Given the description of an element on the screen output the (x, y) to click on. 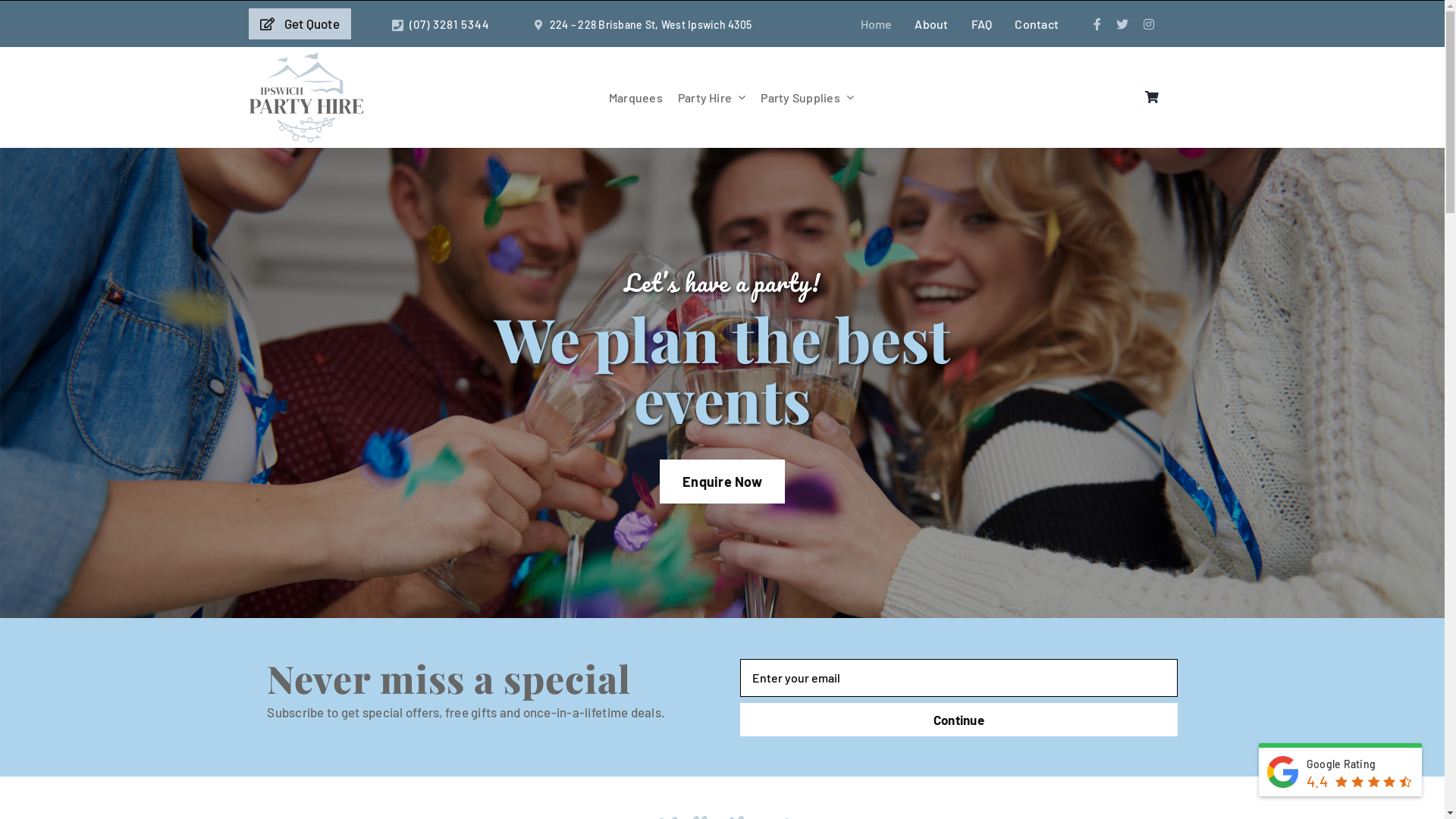
(07) 3281 5344 Element type: text (449, 24)
FAQ Element type: text (981, 24)
Party Hire Element type: text (711, 96)
Contact Element type: text (1036, 24)
About Element type: text (930, 24)
Home Element type: text (876, 24)
Send Enquiry Element type: text (721, 688)
Marquees Element type: text (635, 96)
Party Supplies Element type: text (806, 96)
Continue Element type: text (958, 719)
Google Rating
4.4 Element type: text (1339, 769)
Get Quote Element type: text (299, 23)
Enquire Now Element type: text (721, 481)
